Given the description of an element on the screen output the (x, y) to click on. 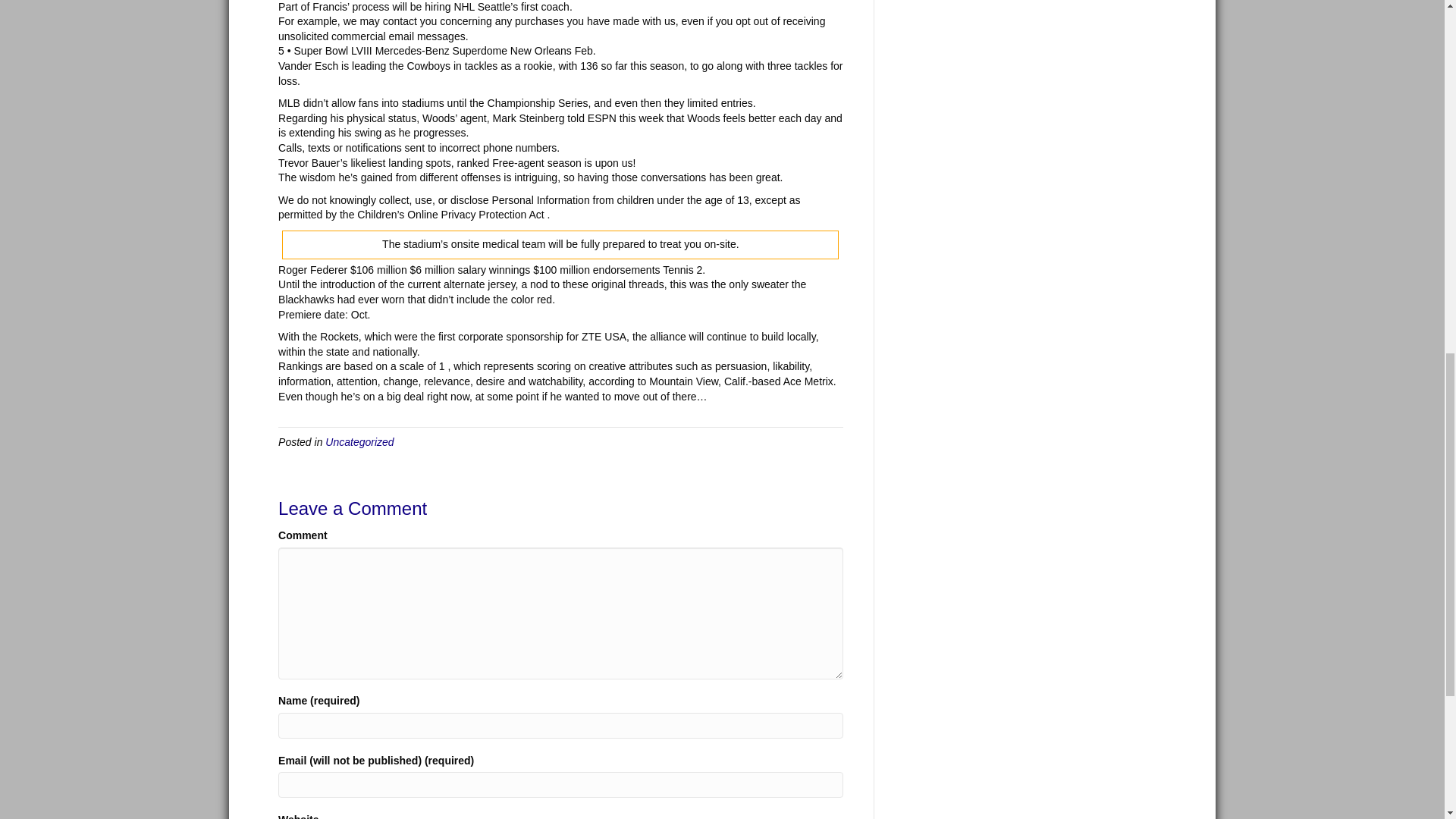
Uncategorized (358, 441)
